Given the description of an element on the screen output the (x, y) to click on. 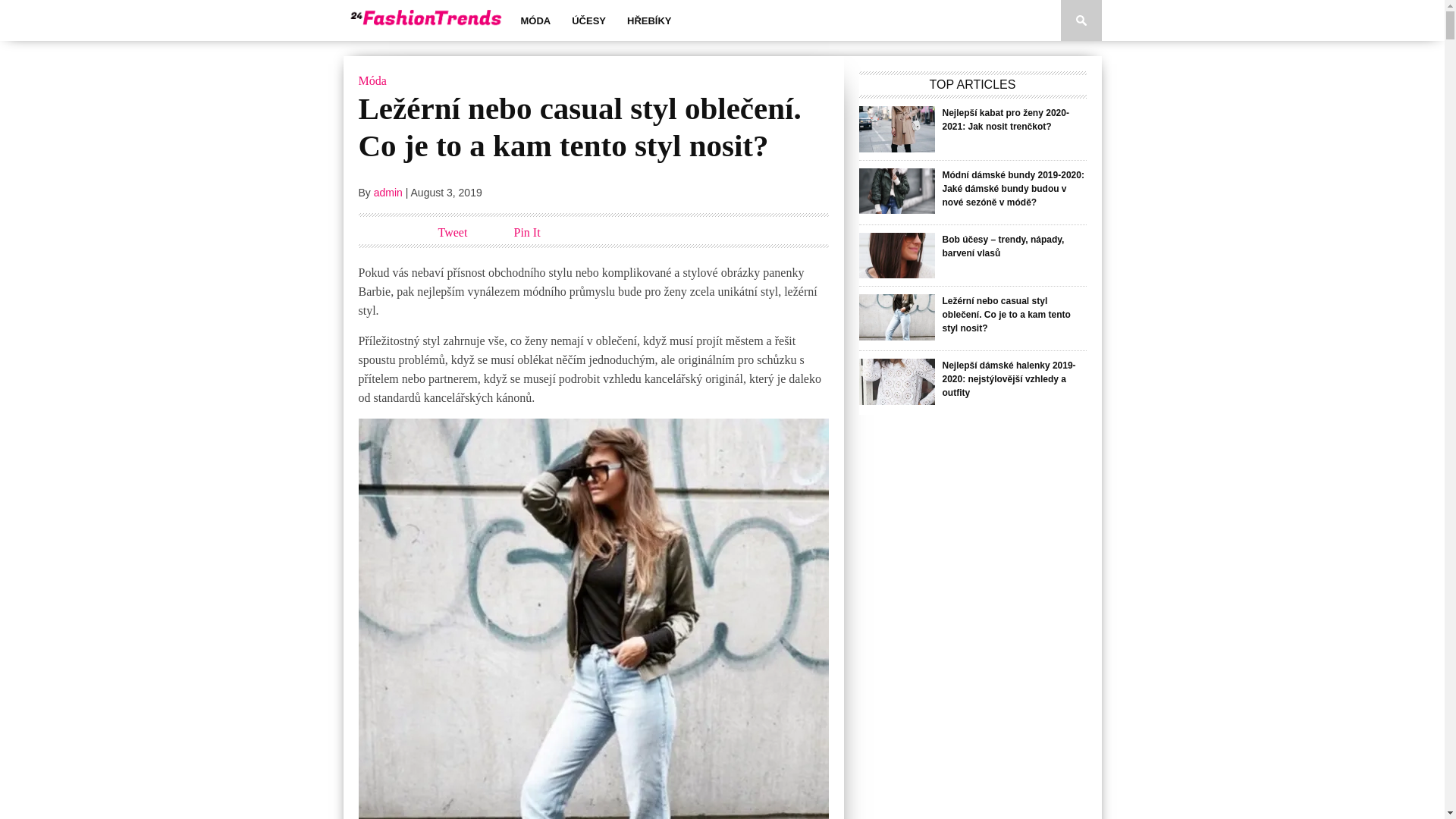
Pin It Element type: text (527, 231)
Tweet Element type: text (452, 231)
admin Element type: text (387, 192)
